Given the description of an element on the screen output the (x, y) to click on. 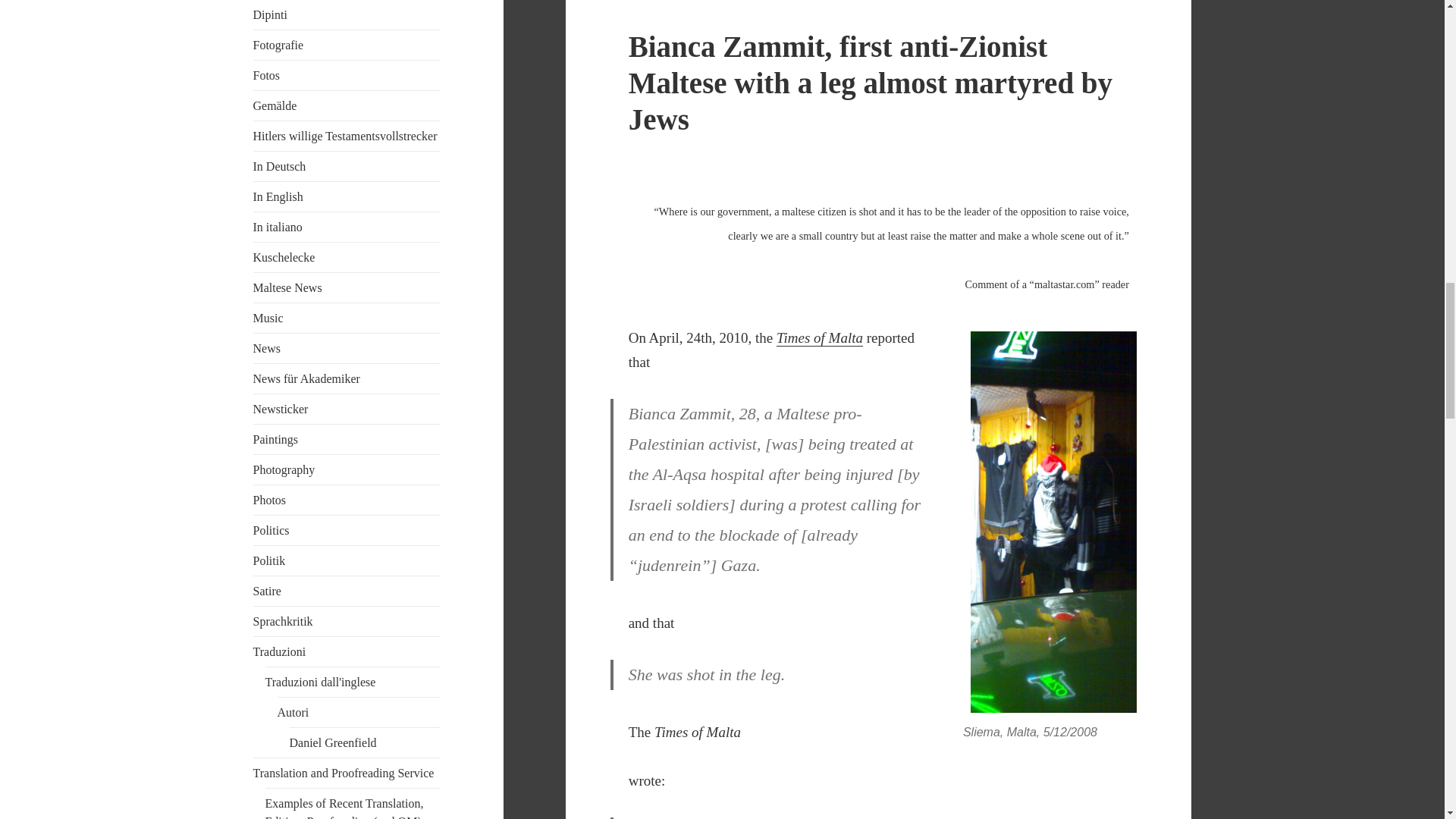
In English (277, 196)
Dipinti (269, 14)
In Deutsch (279, 165)
Fotografie (278, 44)
Fotos (267, 74)
Hier darfst Du! (284, 256)
News (267, 348)
Commenti politici ecc. in italiano (277, 226)
Kuschelecke (284, 256)
Maltese News (287, 287)
In italiano (277, 226)
Hitlers willige Testamentsvollstrecker (345, 135)
Music (268, 318)
